Given the description of an element on the screen output the (x, y) to click on. 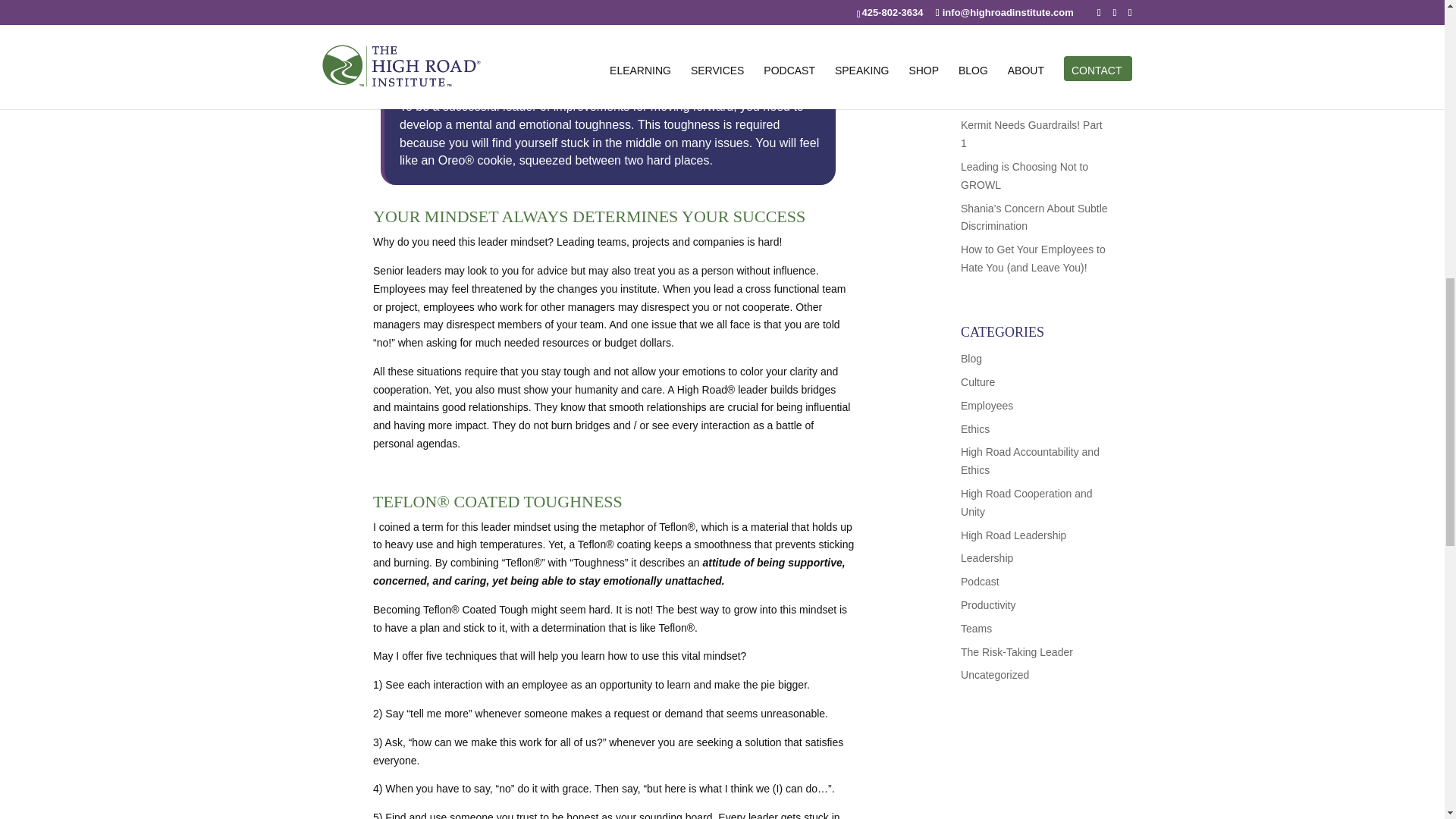
The Corporate Culture You Have is the One You Create!   (977, 381)
The High Road Leader Does Exist. (1012, 535)
Leadership (986, 558)
Leading is Choosing Not to GROWL (1023, 175)
Culture (977, 381)
High Road Leadership (1012, 535)
Employees (986, 405)
High Road Cooperation and Unity (1026, 502)
Kermit Needs Guardrails! Part 1 (1031, 133)
Search (1084, 3)
